Given the description of an element on the screen output the (x, y) to click on. 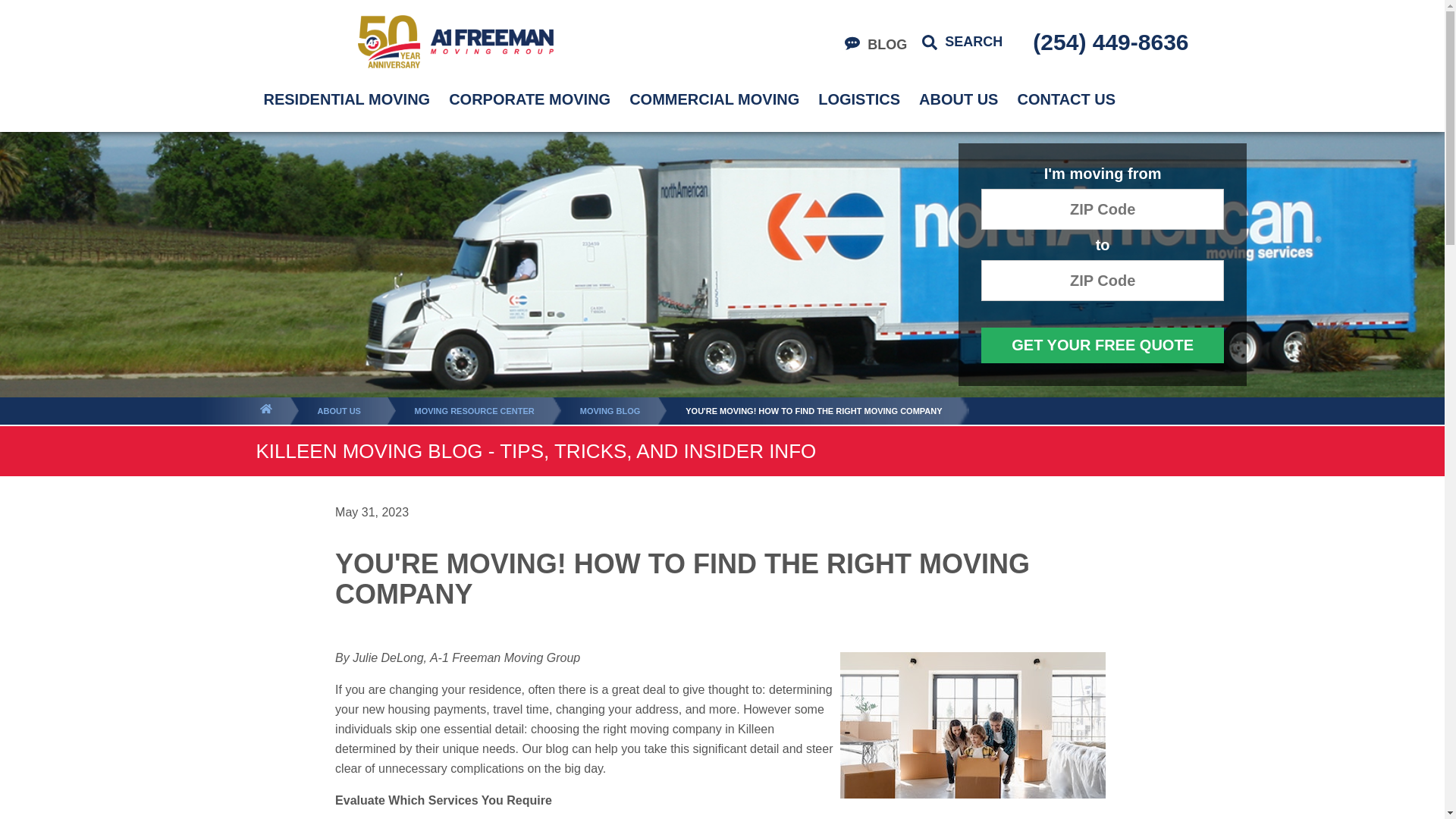
A-1 Freeman Moving Group Home (455, 41)
RESIDENTIAL MOVING (347, 99)
BLOG (875, 44)
Open Search (962, 42)
SEARCH (962, 42)
CORPORATE MOVING (529, 99)
